Given the description of an element on the screen output the (x, y) to click on. 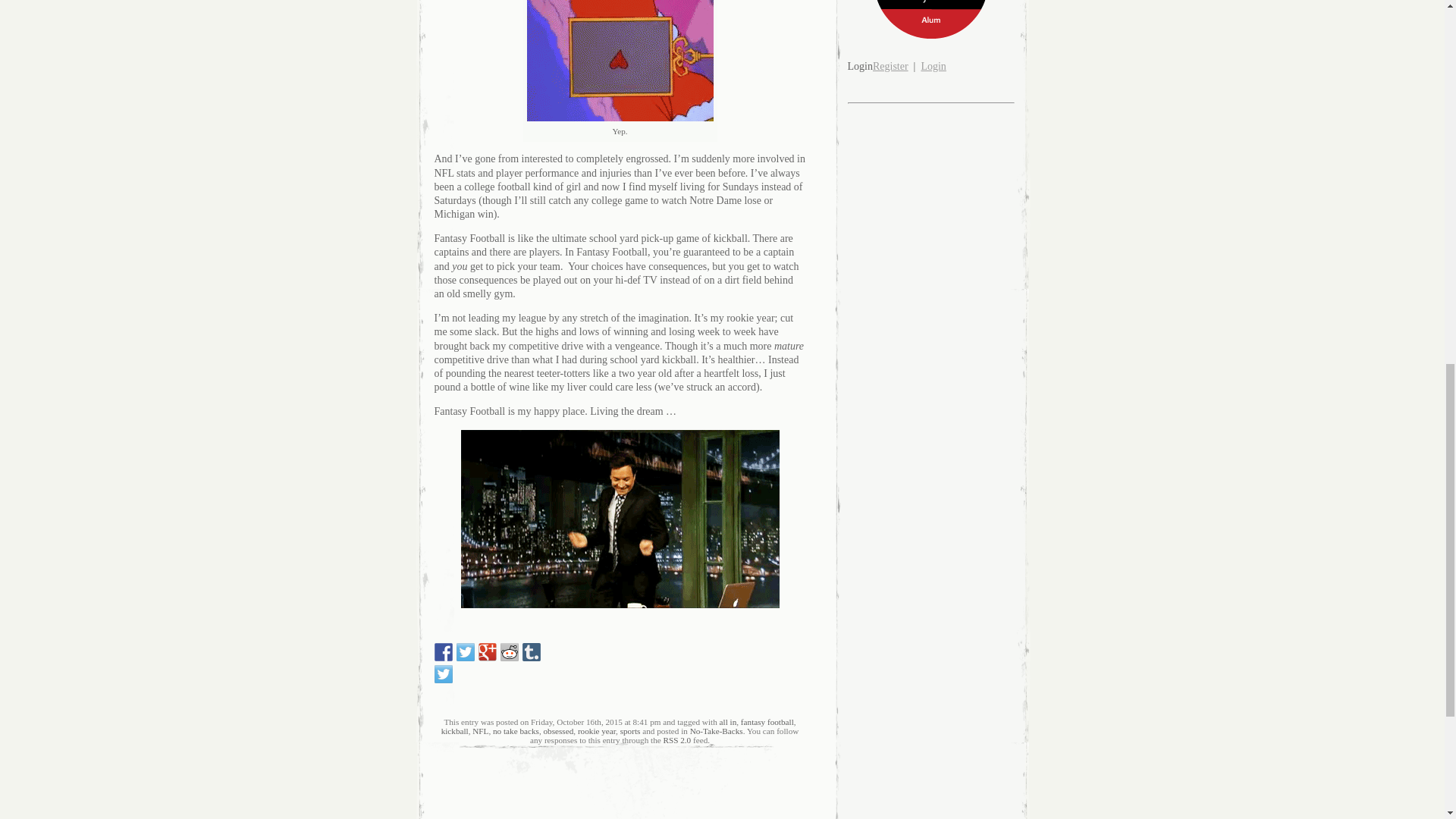
all in (727, 721)
No-Take-Backs (716, 730)
rookie year (596, 730)
RSS 2.0 (676, 739)
obsessed (558, 730)
Share on Facebook (442, 651)
Share on tumblr (530, 651)
kickball (454, 730)
no take backs (515, 730)
fantasy football (767, 721)
